Given the description of an element on the screen output the (x, y) to click on. 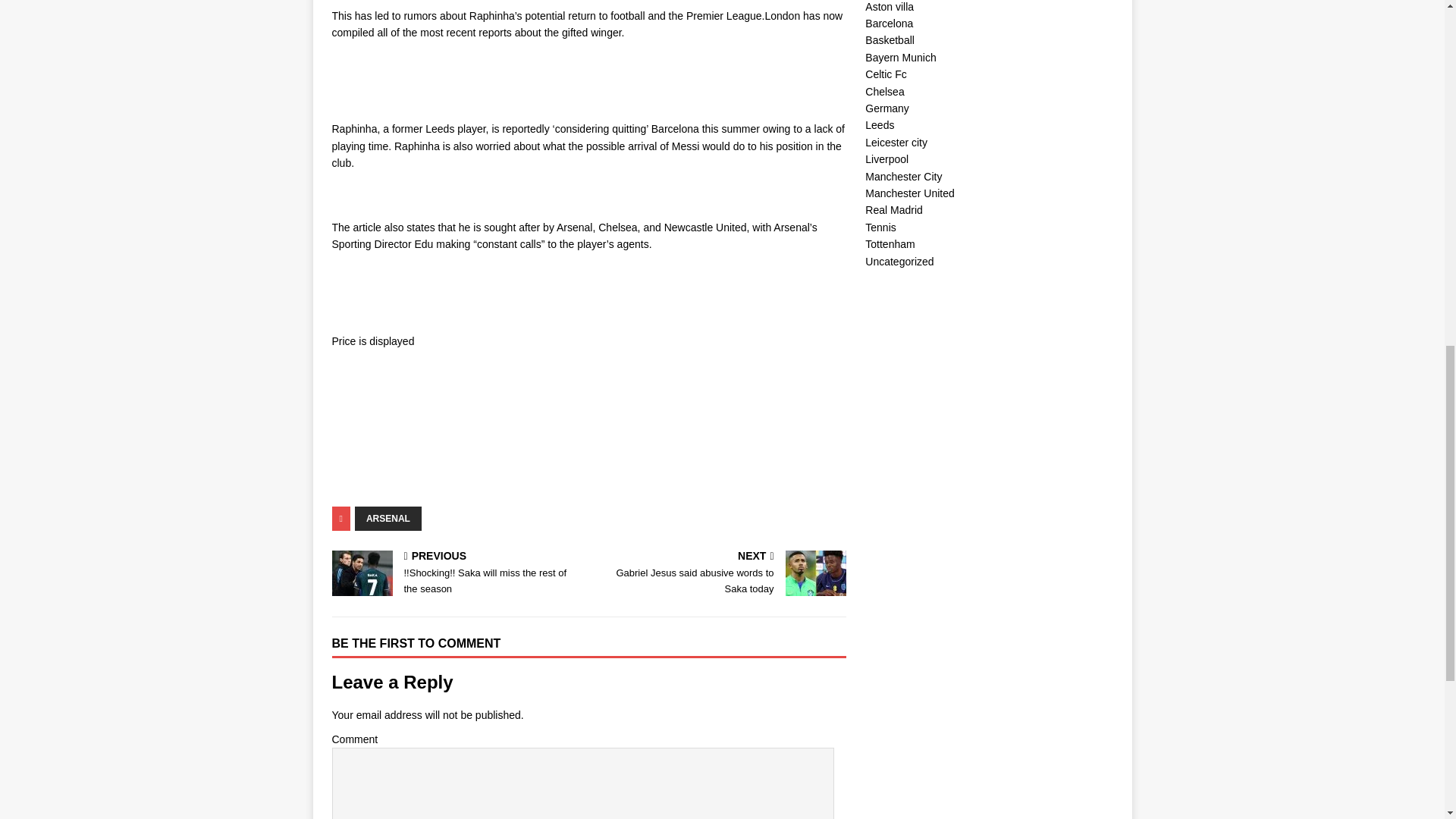
ARSENAL (457, 573)
